Given the description of an element on the screen output the (x, y) to click on. 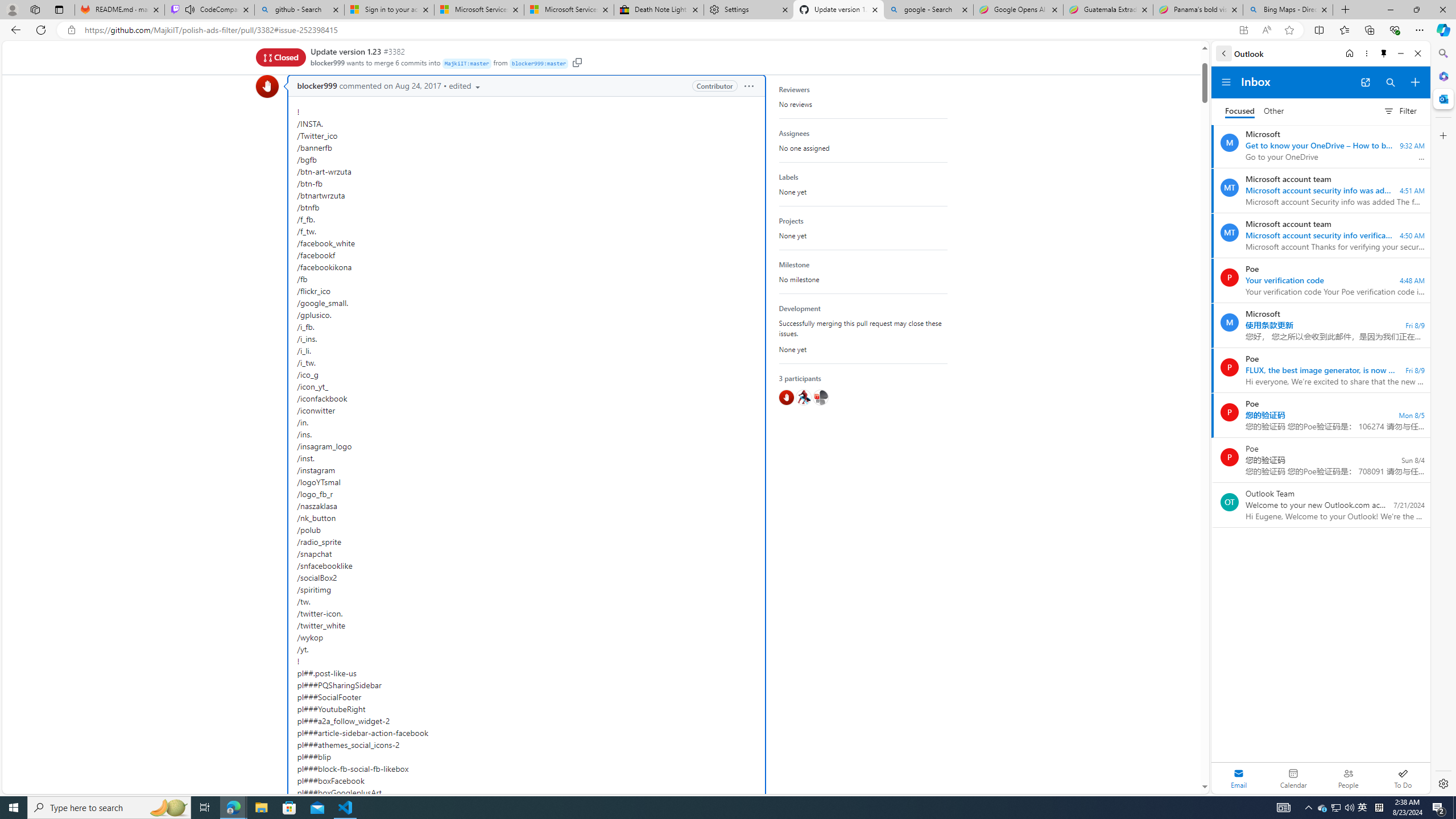
App available. Install GitHub (1243, 29)
Calendar. Date today is 22 (1293, 777)
People (1347, 777)
Show options (749, 85)
@hawkeye116477 (802, 396)
@hawkeye116477 (802, 396)
@MajkiIT (820, 396)
Compose new mail (1414, 82)
